Given the description of an element on the screen output the (x, y) to click on. 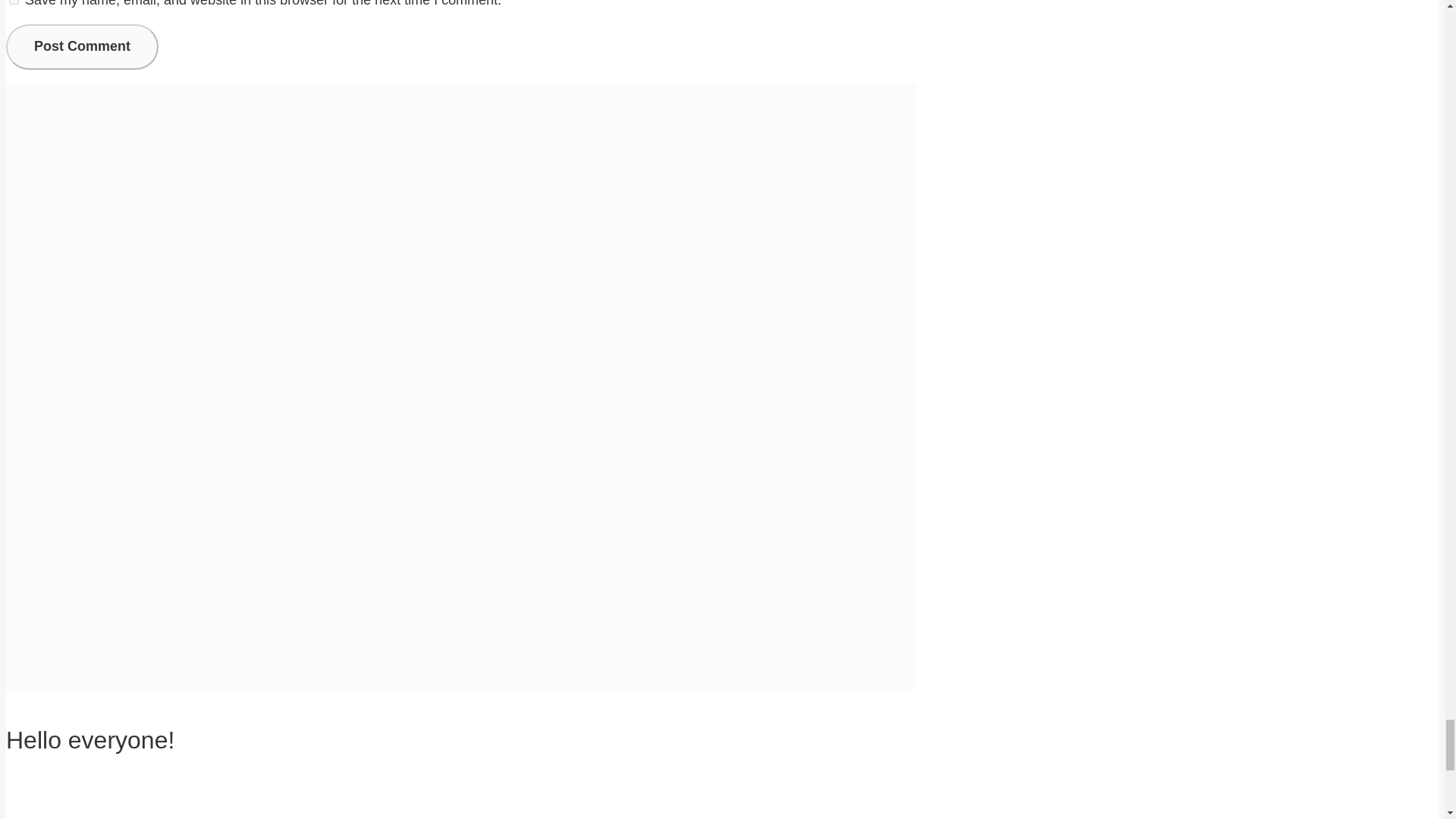
Post Comment (81, 46)
yes (13, 2)
